Given the description of an element on the screen output the (x, y) to click on. 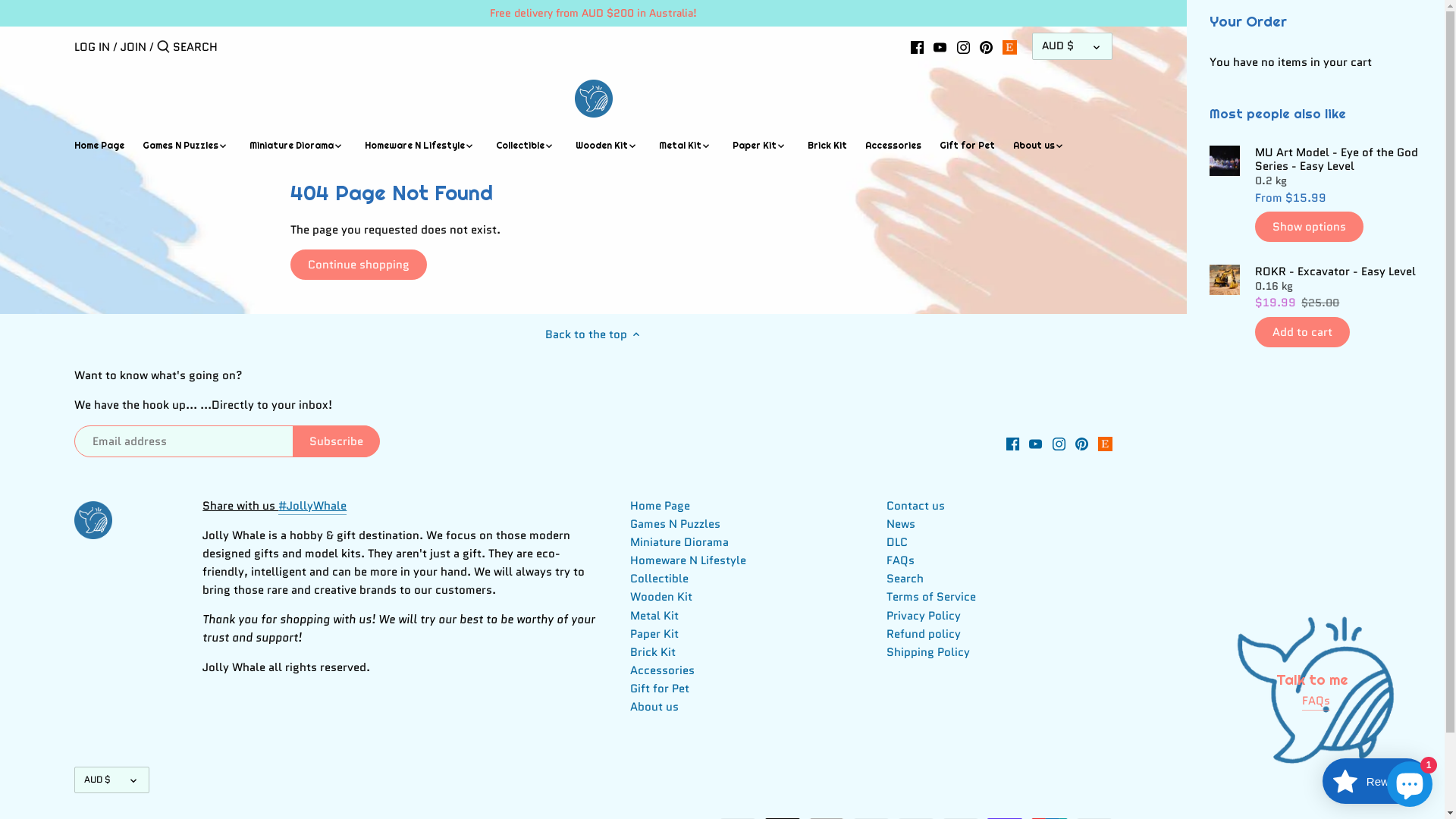
INSTAGRAM Element type: text (963, 45)
Refund policy Element type: text (923, 634)
Shipping Policy Element type: text (927, 652)
Wooden Kit Element type: text (601, 147)
Miniature Diorama Element type: text (679, 542)
Gift for Pet Element type: text (659, 688)
ROKR - Excavator - Easy Level Element type: text (1338, 271)
Paper Kit Element type: text (754, 147)
Shopify online store chat Element type: hover (1409, 780)
AUD $ Element type: text (1072, 45)
Metal Kit Element type: text (679, 147)
Back to the top Element type: text (592, 334)
Paper Kit Element type: text (654, 634)
About us Element type: text (654, 706)
Youtube Element type: text (1035, 443)
Continue shopping Element type: text (357, 264)
Miniature Diorama Element type: text (291, 147)
Metal Kit Element type: text (654, 615)
Subscribe Element type: text (335, 441)
Homeware N Lifestyle Element type: text (688, 560)
JOIN Element type: text (133, 46)
Search Element type: text (904, 578)
Homeware N Lifestyle Element type: text (414, 147)
Free delivery from AUD $200 in Australia! Element type: text (593, 13)
News Element type: text (900, 524)
Facebook Element type: text (1012, 443)
#JollyWhale Element type: text (312, 505)
PINTEREST Element type: text (985, 45)
YOUTUBE Element type: text (939, 45)
Collectible Element type: text (659, 578)
AUD $ Element type: text (111, 779)
Games N Puzzles Element type: text (180, 147)
Collectible Element type: text (519, 147)
Brick Kit Element type: text (652, 652)
Contact us Element type: text (915, 505)
Gift for Pet Element type: text (967, 147)
Privacy Policy Element type: text (923, 615)
Home Page Element type: text (103, 147)
LOG IN Element type: text (91, 46)
Games N Puzzles Element type: text (675, 524)
About us Element type: text (1033, 147)
FAQs Element type: text (900, 560)
Show options Element type: text (1309, 226)
Accessories Element type: text (662, 670)
FACEBOOK Element type: text (916, 45)
Add to cart Element type: text (1302, 331)
Home Page Element type: text (660, 505)
Terms of Service Element type: text (930, 596)
Wooden Kit Element type: text (661, 596)
Brick Kit Element type: text (827, 147)
Accessories Element type: text (893, 147)
Instagram Element type: text (1058, 443)
MU Art Model - Eye of the God Series - Easy Level Element type: text (1338, 158)
Pinterest Element type: text (1081, 443)
DLC Element type: text (896, 542)
